Given the description of an element on the screen output the (x, y) to click on. 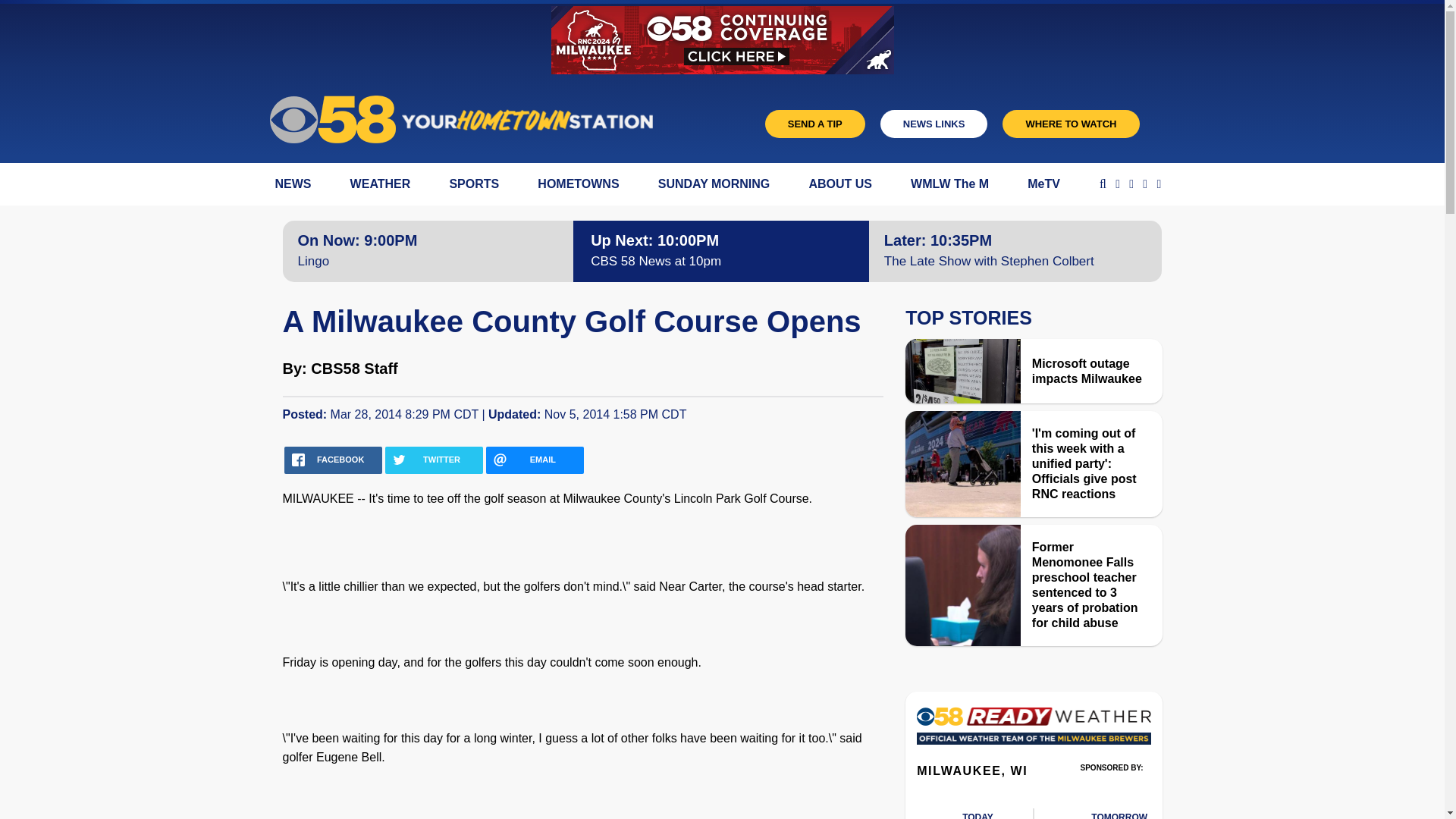
3rd party ad content (1112, 789)
weather (1118, 813)
Weather (1033, 730)
weather (987, 813)
